Given the description of an element on the screen output the (x, y) to click on. 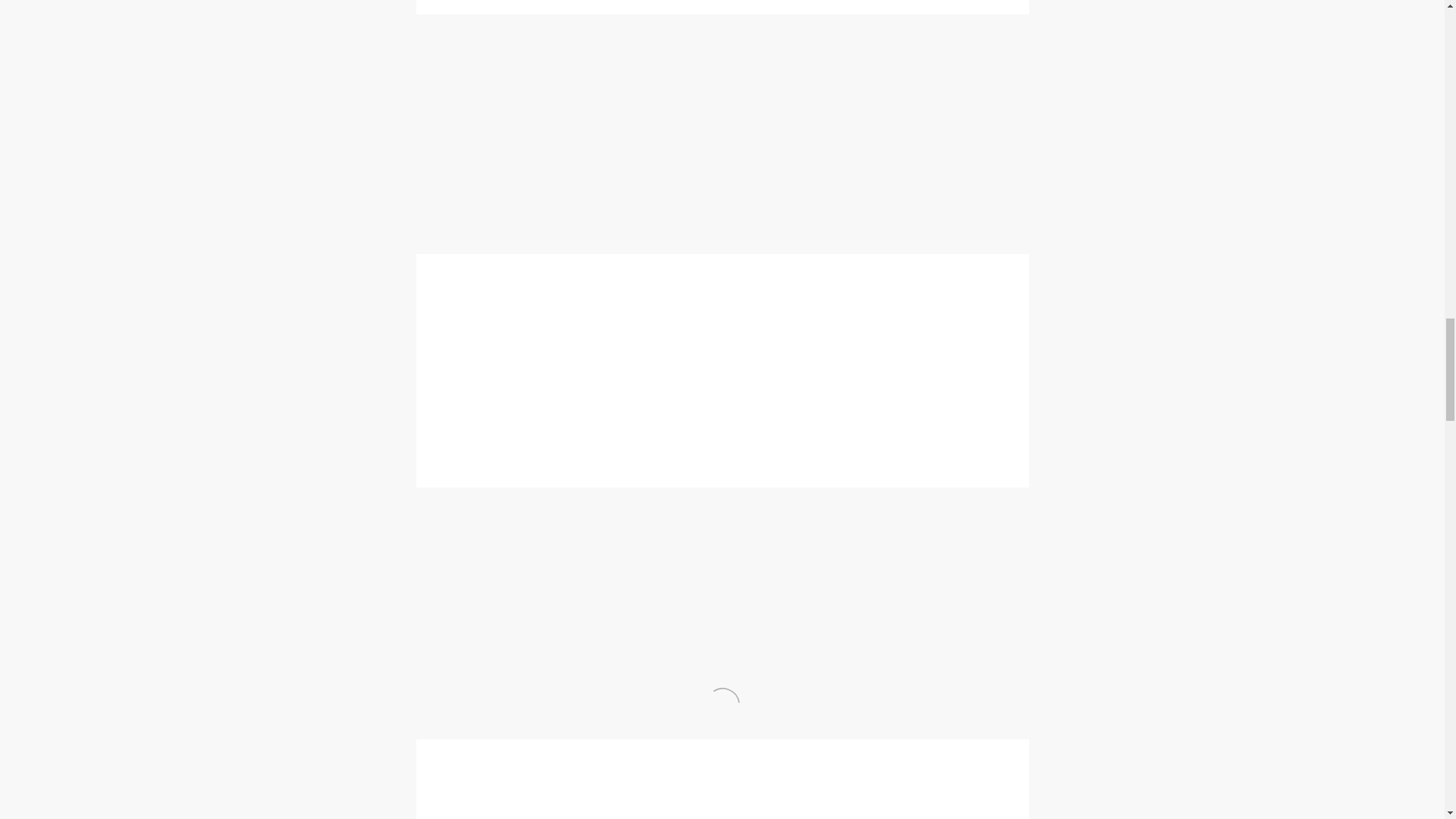
First Presbyterian Church of Greensboro (620, 509)
Cakalak Thunder (710, 68)
The International Civil Rights Center and Museum (779, 154)
New Creation Community Church (670, 563)
